Given the description of an element on the screen output the (x, y) to click on. 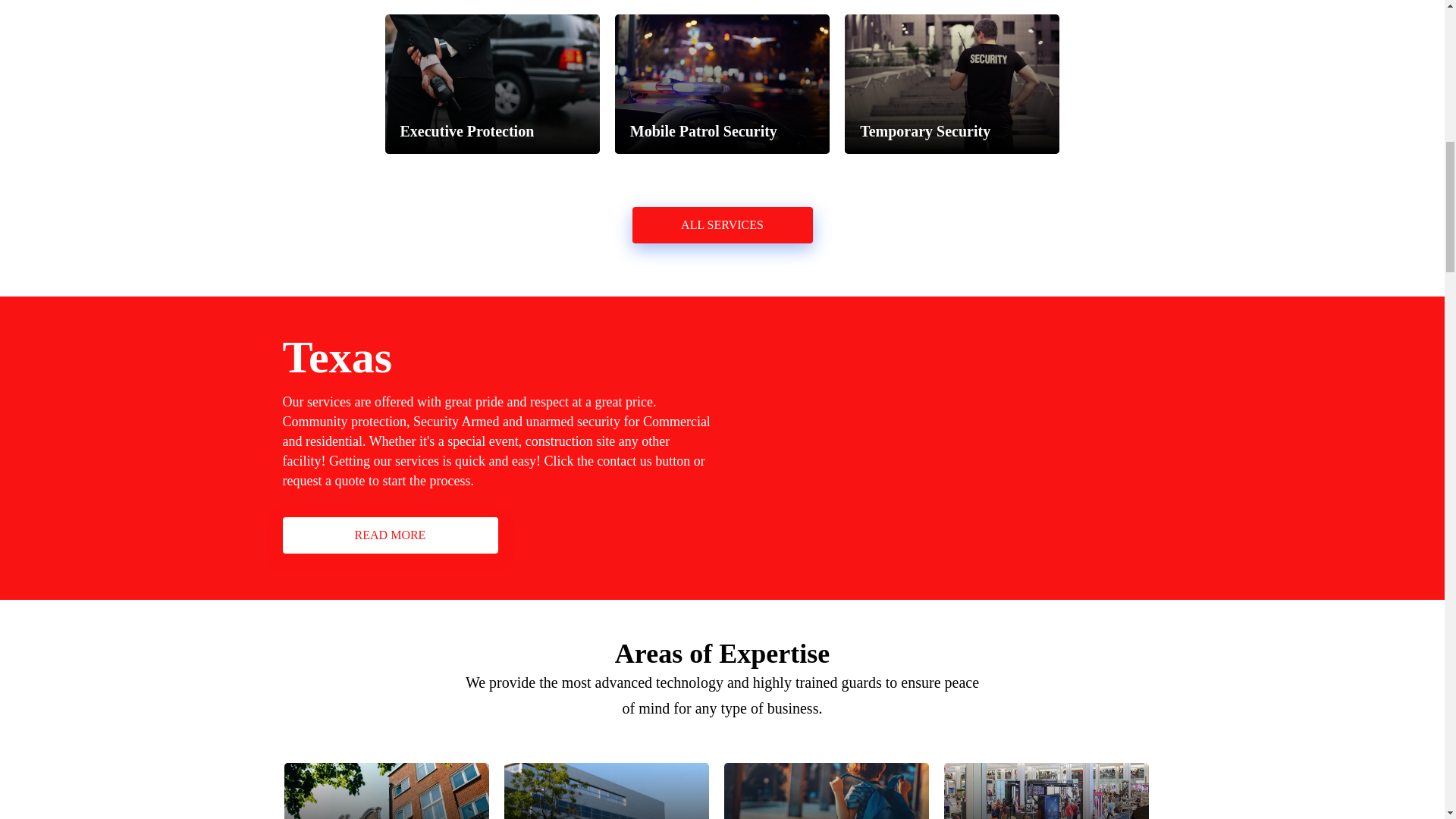
Armed (480, 421)
